Given the description of an element on the screen output the (x, y) to click on. 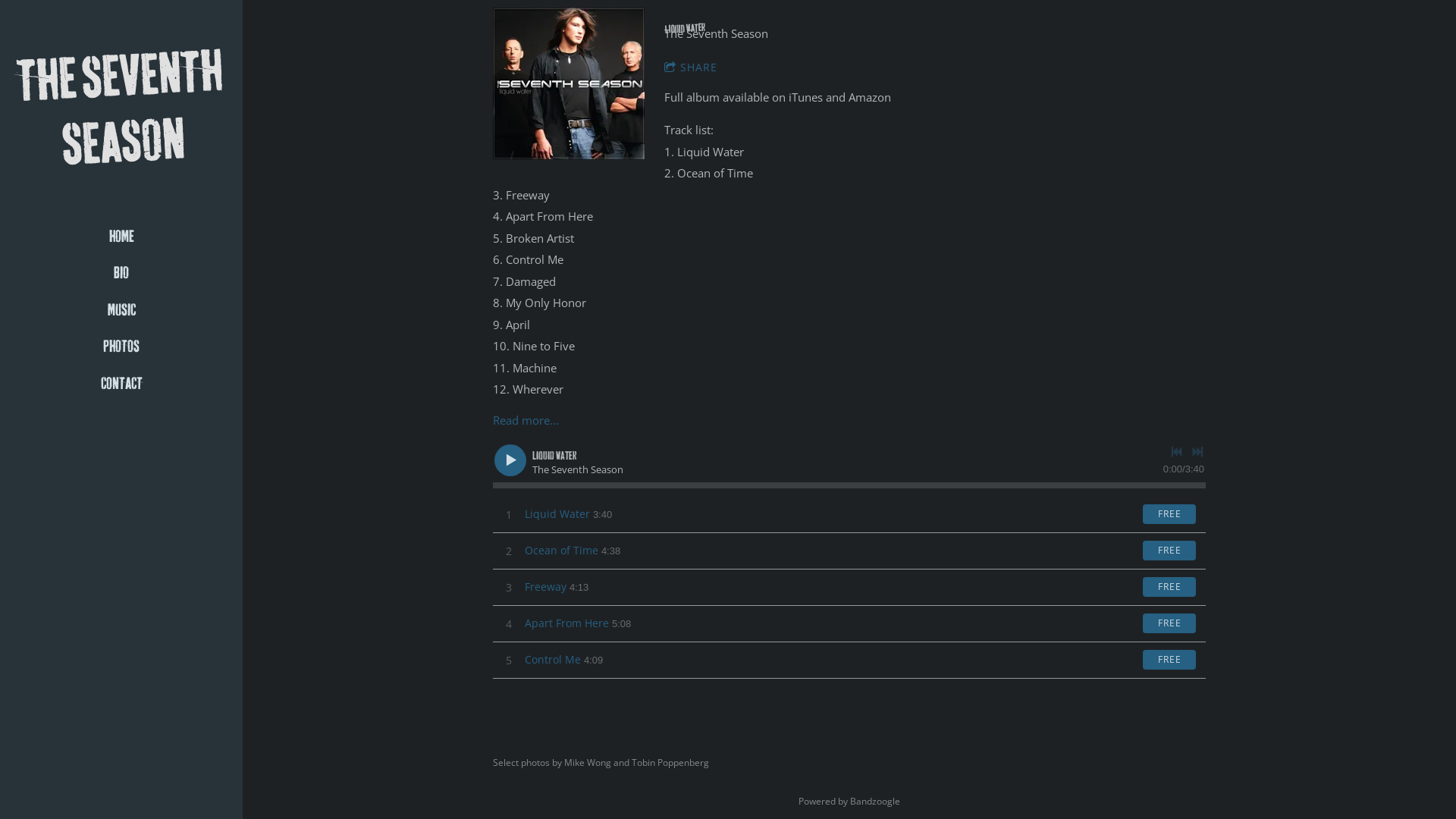
Freeway Element type: text (545, 586)
Liquid Water Element type: hover (568, 83)
FREE Element type: text (1168, 623)
Play Element type: hover (510, 460)
Previous track Element type: hover (1176, 451)
Powered by Bandzoogle Element type: text (849, 800)
Next track Element type: hover (1197, 451)
FREE Element type: text (1168, 587)
Apart From Here Element type: text (566, 622)
Liquid Water Element type: text (556, 513)
HOME Element type: text (121, 236)
BIO Element type: text (120, 273)
THE SEVENTH SEASON Element type: text (122, 148)
PHOTOS Element type: text (121, 346)
MUSIC Element type: text (121, 310)
CONTACT Element type: text (120, 384)
FREE Element type: text (1168, 550)
FREE Element type: text (1168, 514)
FREE Element type: text (1168, 659)
Control Me Element type: text (552, 659)
Ocean of Time Element type: text (561, 550)
SHARE Element type: text (698, 67)
